Given the description of an element on the screen output the (x, y) to click on. 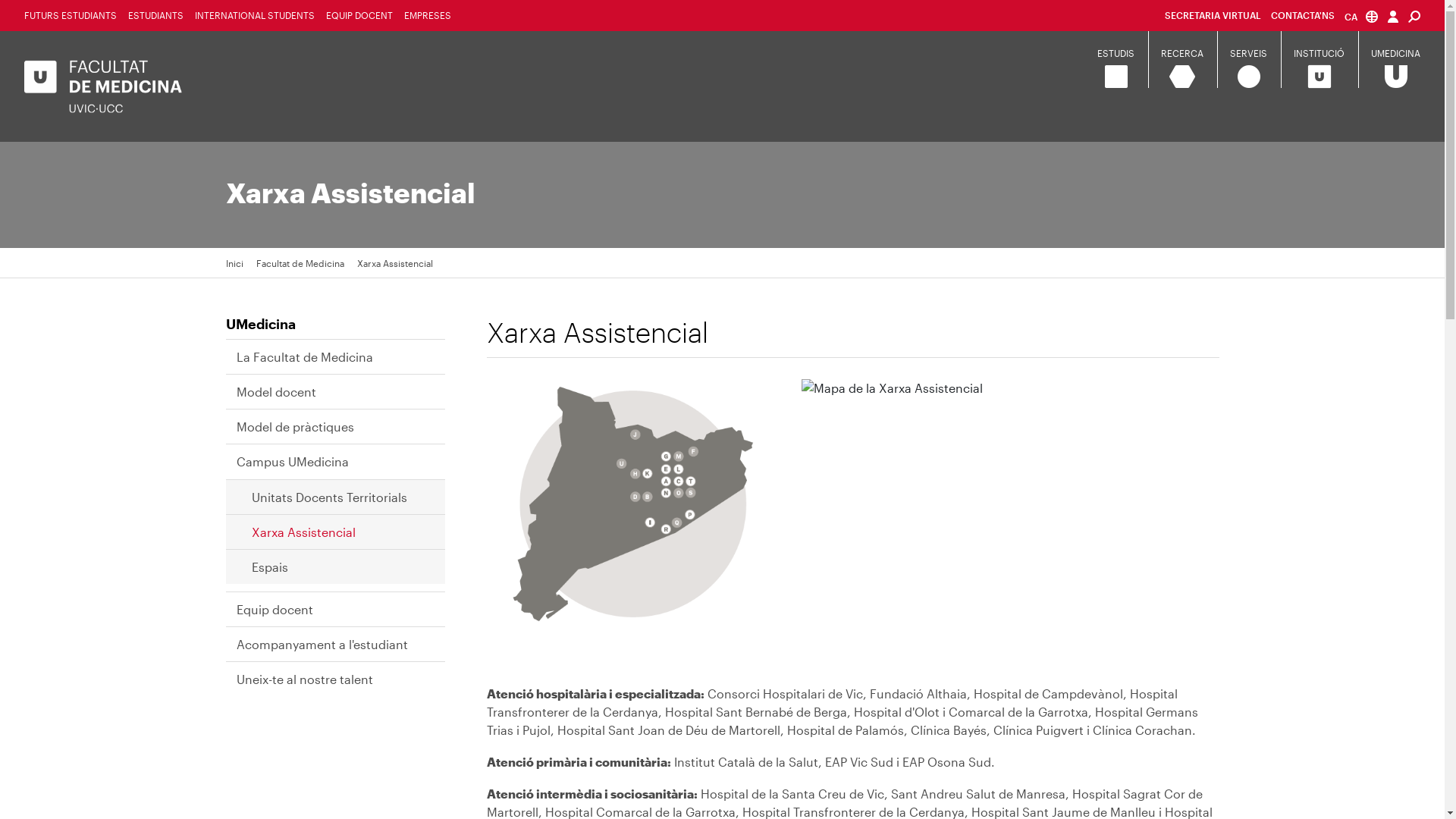
Uneix-te al nostre talent Element type: text (312, 679)
ESTUDIANTS Element type: text (155, 14)
La Facultat de Medicina Element type: text (312, 356)
EQUIP DOCENT Element type: text (359, 14)
CONTACTA'NS Element type: text (1302, 14)
UMEDICINA Element type: text (1395, 53)
Inici Element type: text (234, 262)
FUTURS ESTUDIANTS Element type: text (70, 14)
ESTUDIS Element type: text (1115, 53)
Acompanyament a l'estudiant Element type: text (329, 644)
Facultat de Medicina Element type: text (300, 262)
SECRETARIA VIRTUAL Element type: text (1212, 14)
Unitats Docents Territorials Element type: text (336, 497)
Campus UMedicina Element type: text (300, 461)
Xarxa Assistencial Element type: text (310, 532)
Skip to main content Element type: text (0, 0)
EMPRESES Element type: text (427, 14)
RECERCA Element type: text (1182, 53)
SERVEIS Element type: text (1248, 53)
Model docent Element type: text (283, 391)
Xarxa Assistencial Element type: text (394, 262)
Virtual Campus Element type: hover (1392, 15)
INTERNATIONAL STUDENTS Element type: text (254, 14)
Equip docent Element type: text (282, 609)
Espais Element type: text (277, 566)
CA Element type: text (1360, 15)
